Given the description of an element on the screen output the (x, y) to click on. 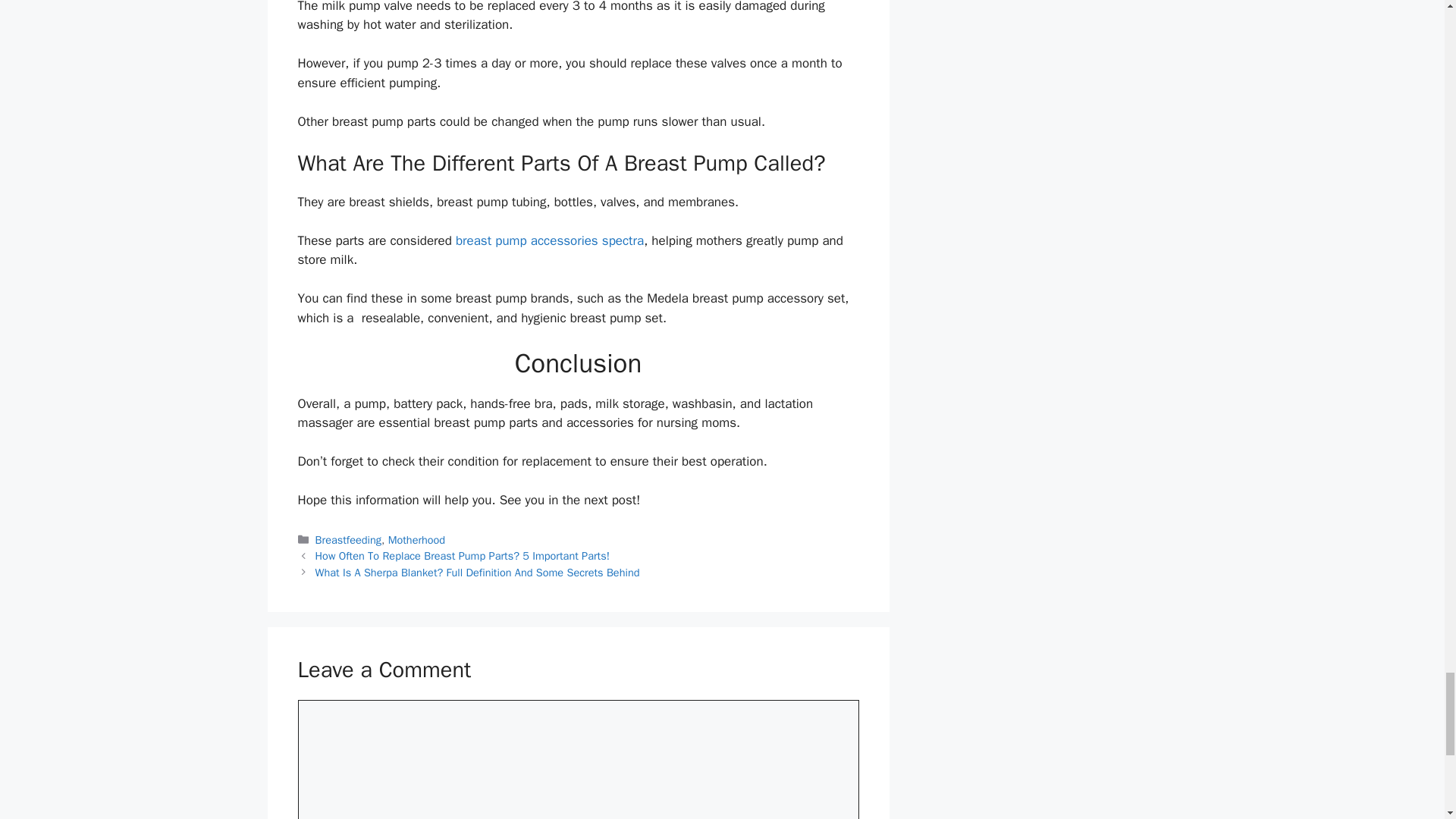
breast pump accessories spectra (549, 240)
How Often To Replace Breast Pump Parts? 5 Important Parts! (462, 555)
Motherhood (416, 540)
Breastfeeding (348, 540)
